Given the description of an element on the screen output the (x, y) to click on. 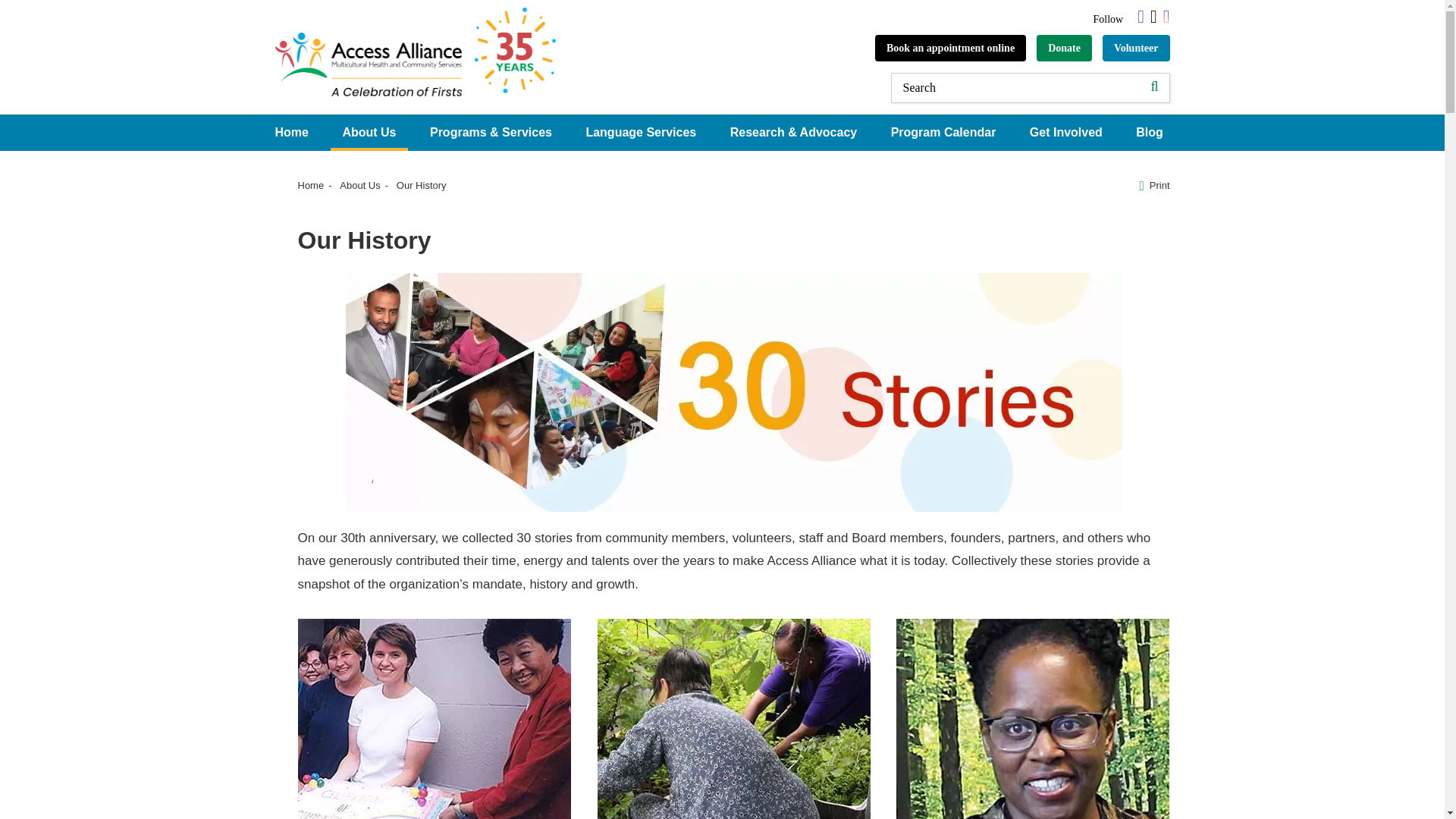
Language Services (640, 132)
About Us (369, 132)
Home (291, 132)
Volunteer (1136, 48)
Donate (1064, 48)
Book an appointment online (950, 48)
